Given the description of an element on the screen output the (x, y) to click on. 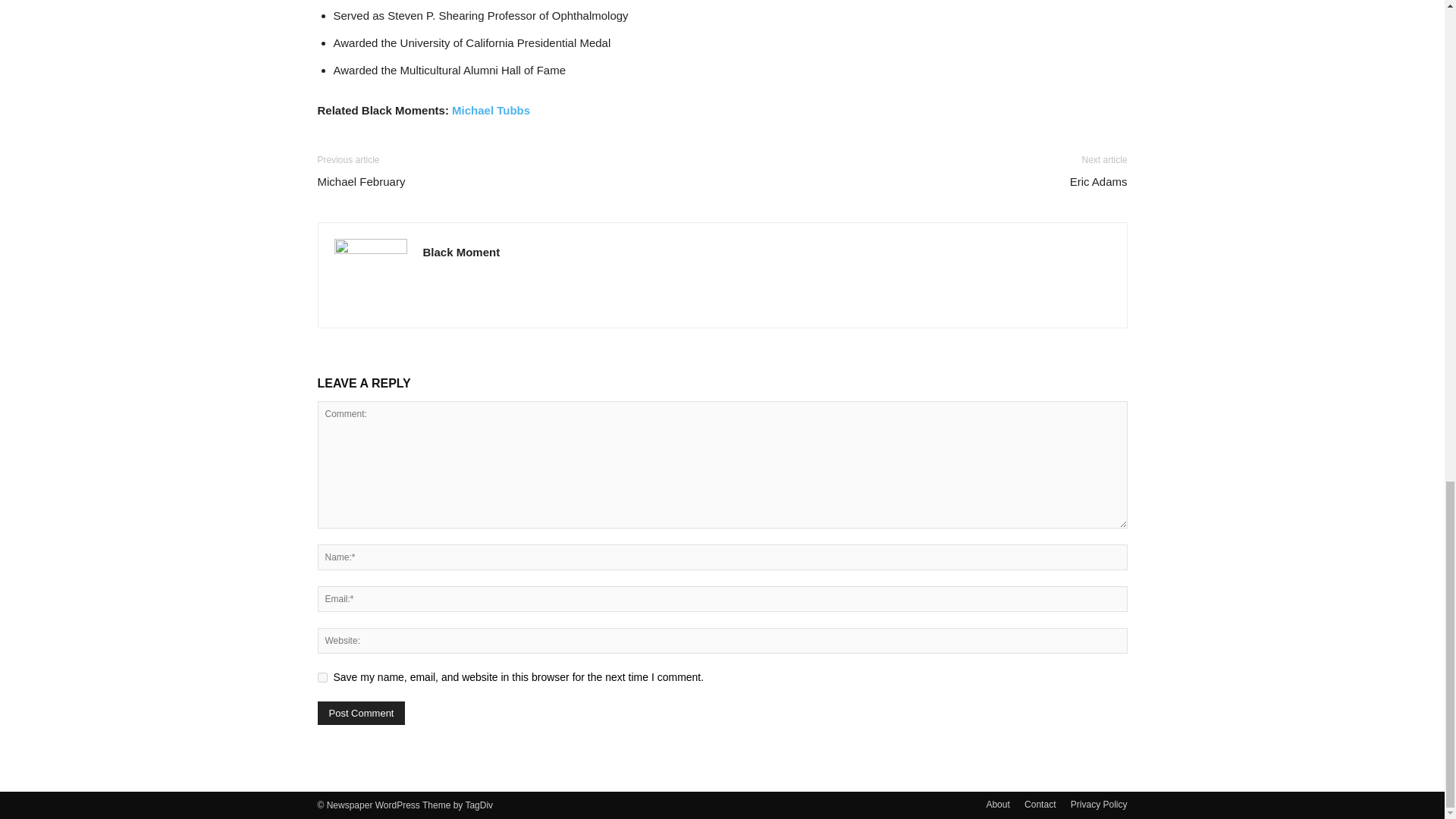
Michael Tubbs (490, 110)
Contact (1040, 804)
Post Comment (360, 712)
yes (321, 677)
About (997, 804)
Post Comment (360, 712)
Michael February (360, 181)
Black Moment (461, 251)
Privacy Policy (1098, 804)
Eric Adams (1098, 181)
